Given the description of an element on the screen output the (x, y) to click on. 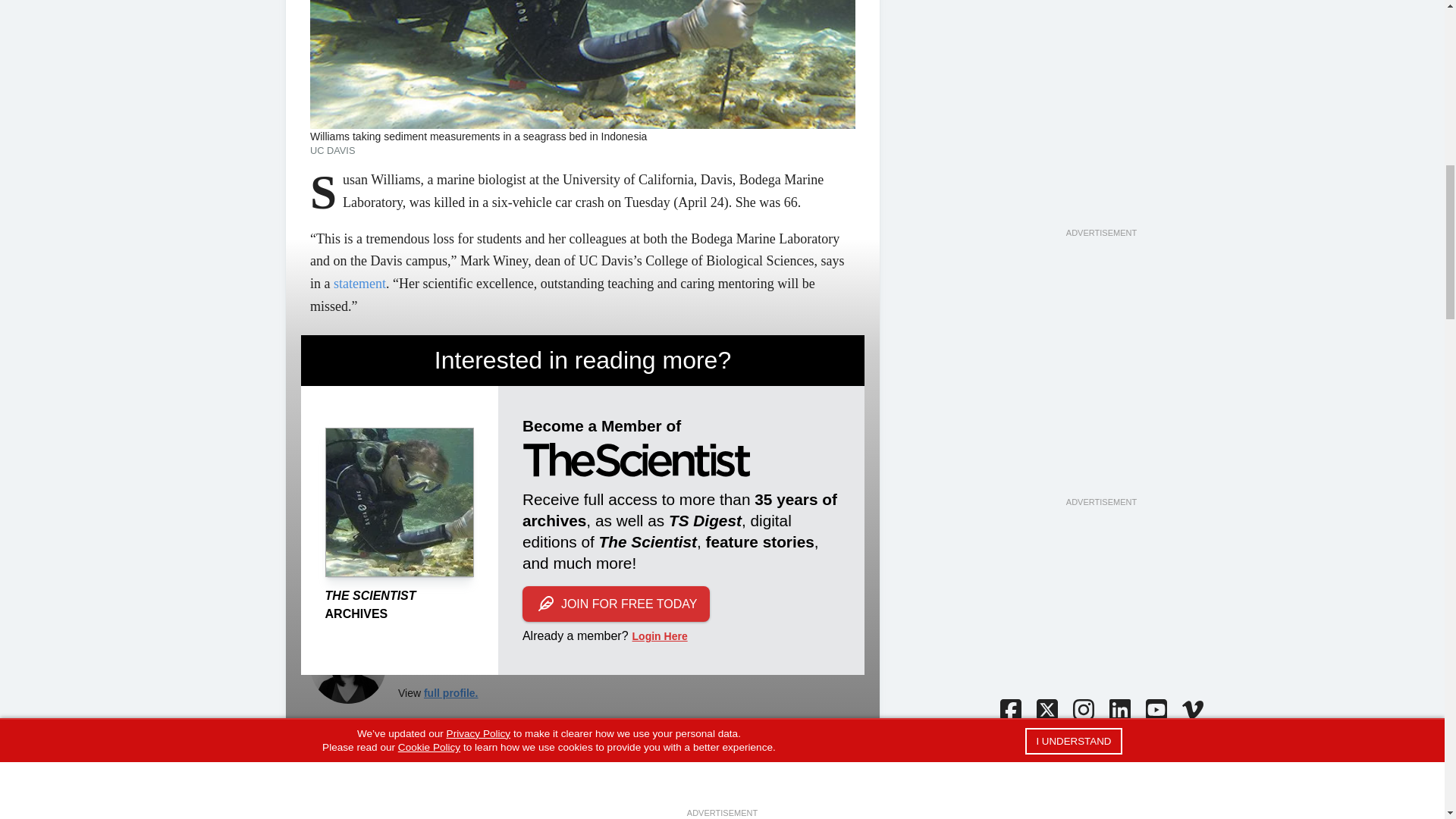
3rd party ad content (1100, 50)
3rd party ad content (1100, 400)
Diana Kwon (347, 665)
